Given the description of an element on the screen output the (x, y) to click on. 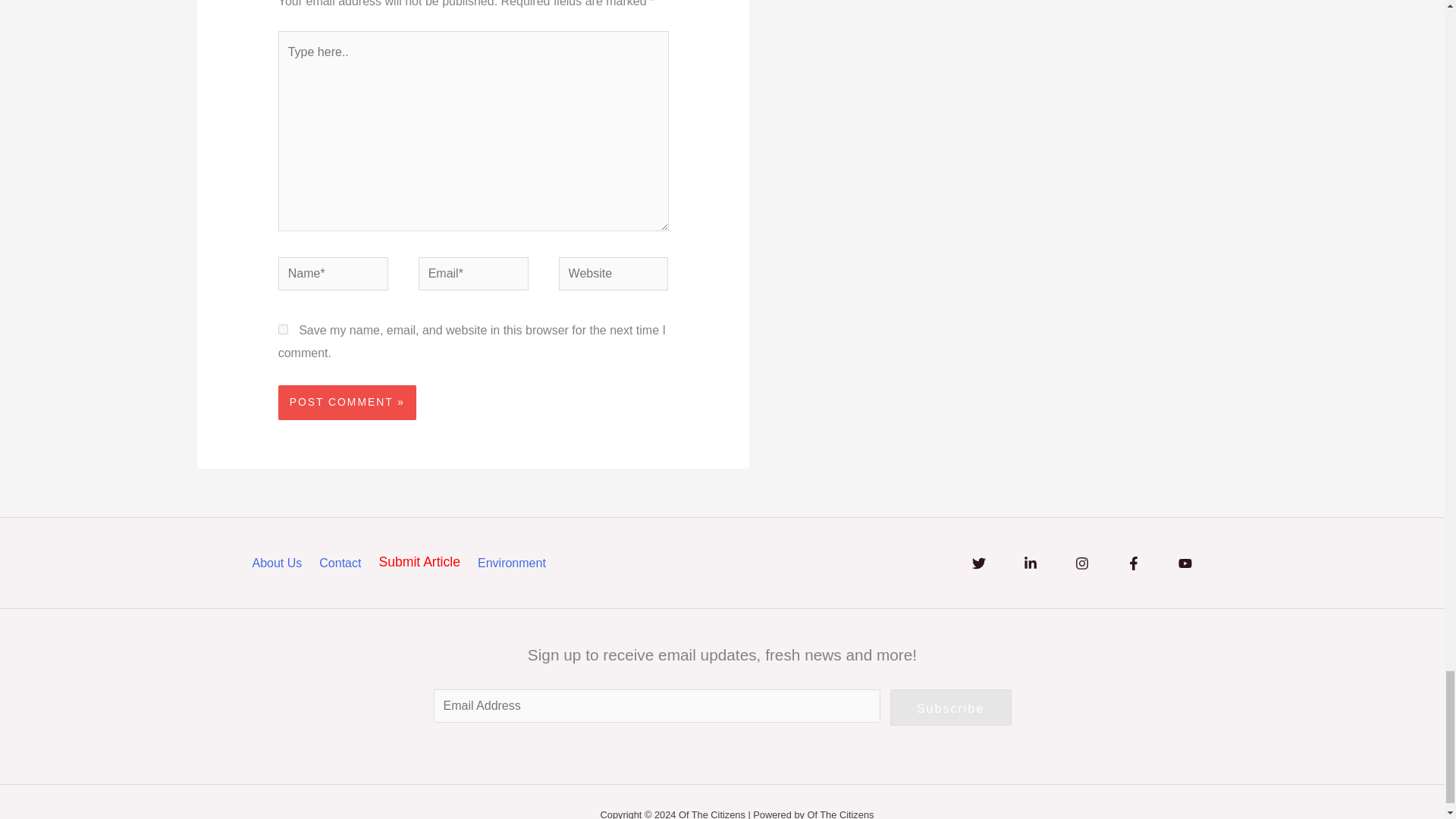
yes (283, 329)
